Given the description of an element on the screen output the (x, y) to click on. 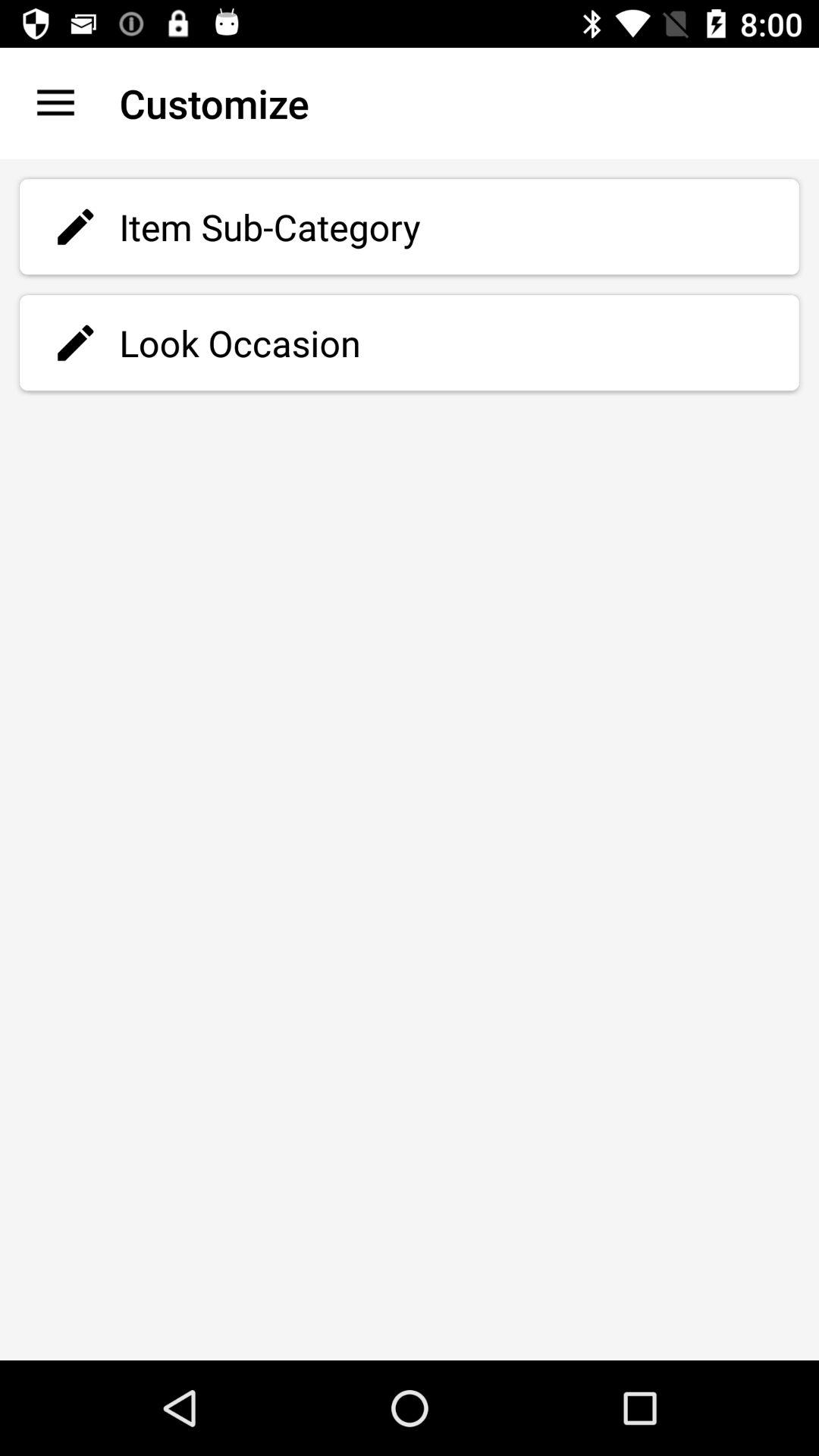
scroll to item sub-category (409, 226)
